Given the description of an element on the screen output the (x, y) to click on. 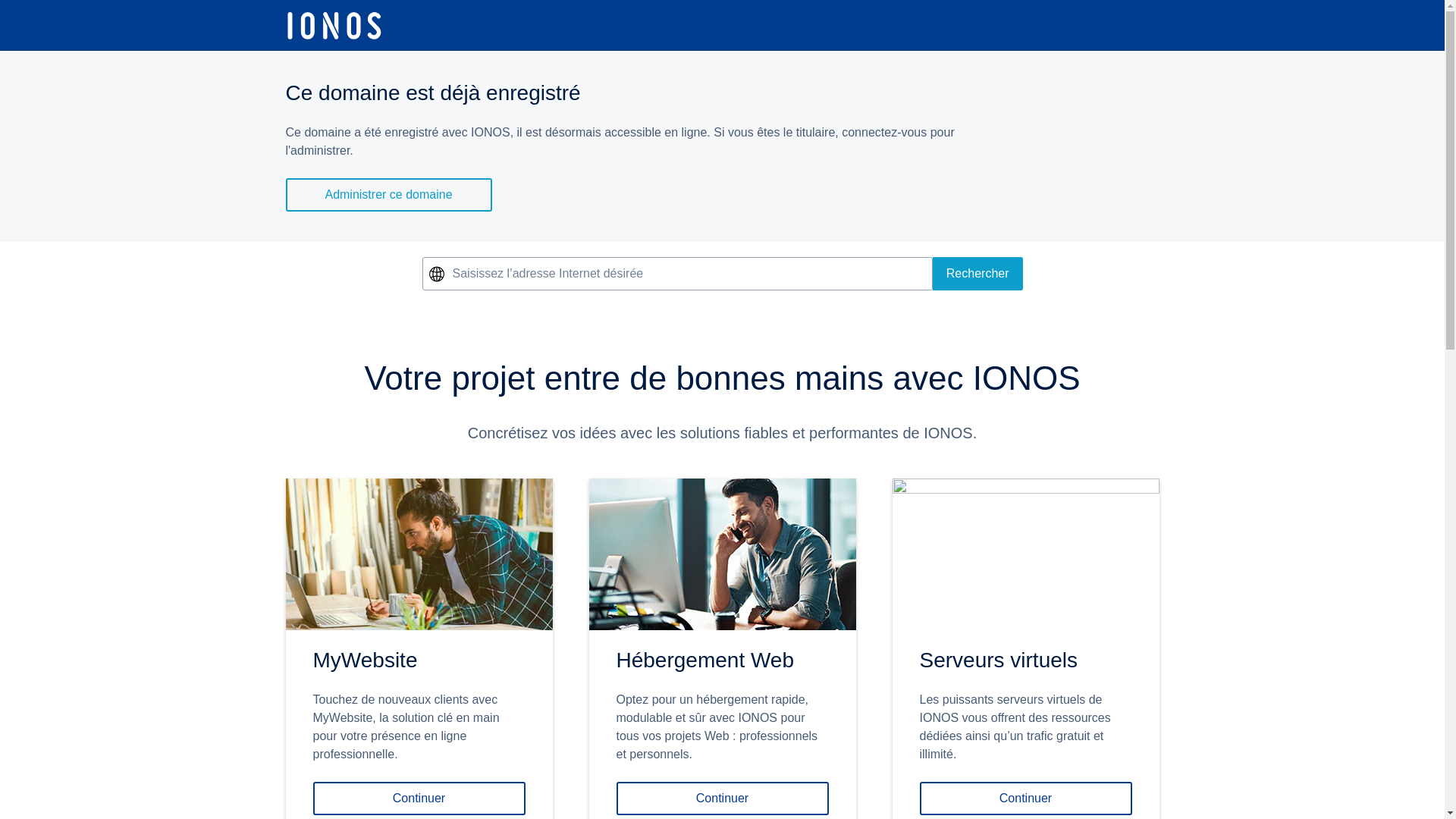
Administrer ce domaine Element type: text (388, 194)
Rechercher Element type: text (977, 273)
